Given the description of an element on the screen output the (x, y) to click on. 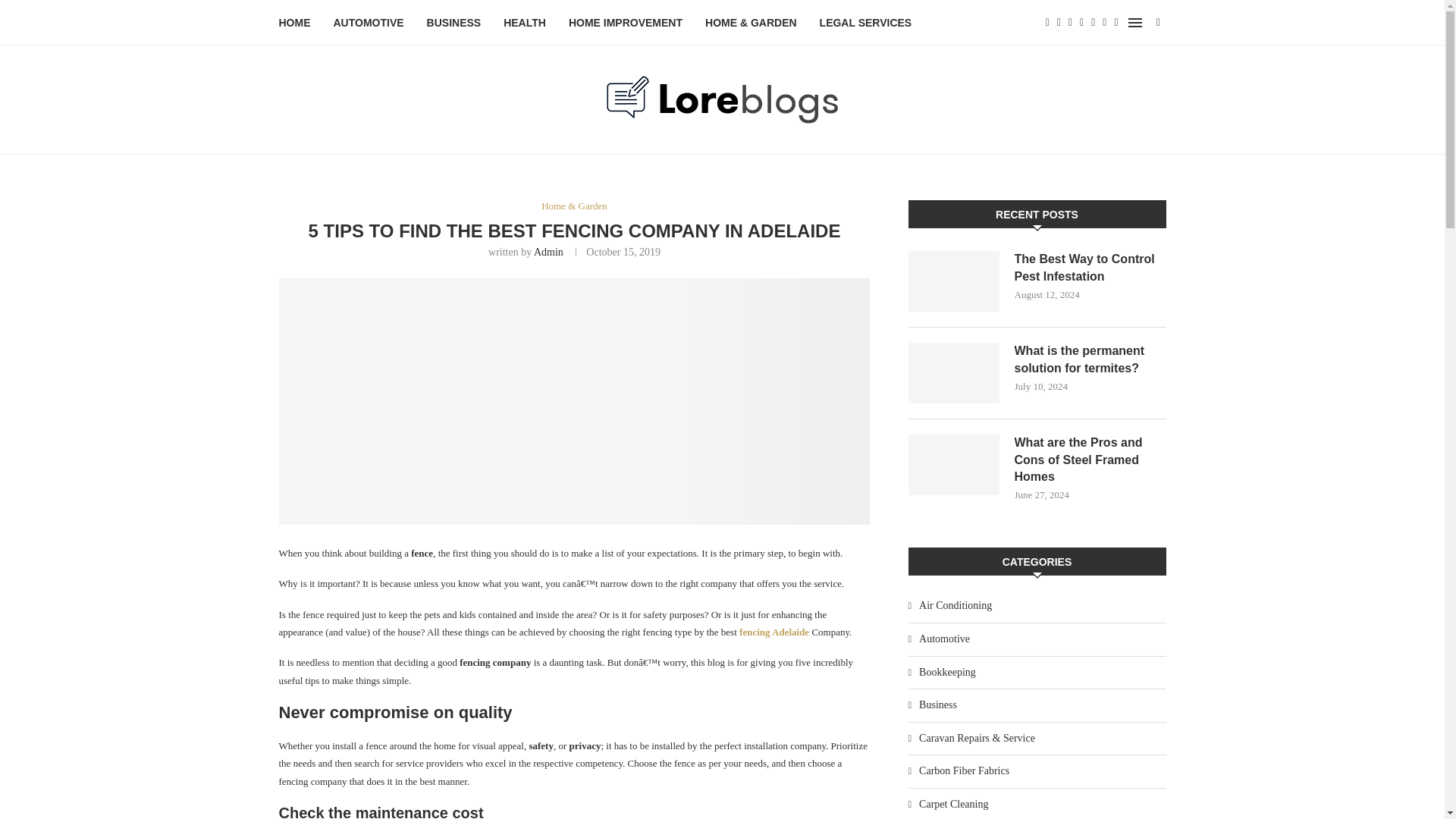
LEGAL SERVICES (865, 22)
Admin (548, 251)
The Best Way to Control Pest Infestation (953, 281)
fencing Adelaide (774, 632)
BUSINESS (453, 22)
The Best Way to Control Pest Infestation (1090, 267)
HOME IMPROVEMENT (625, 22)
HEALTH (524, 22)
AUTOMOTIVE (368, 22)
